Given the description of an element on the screen output the (x, y) to click on. 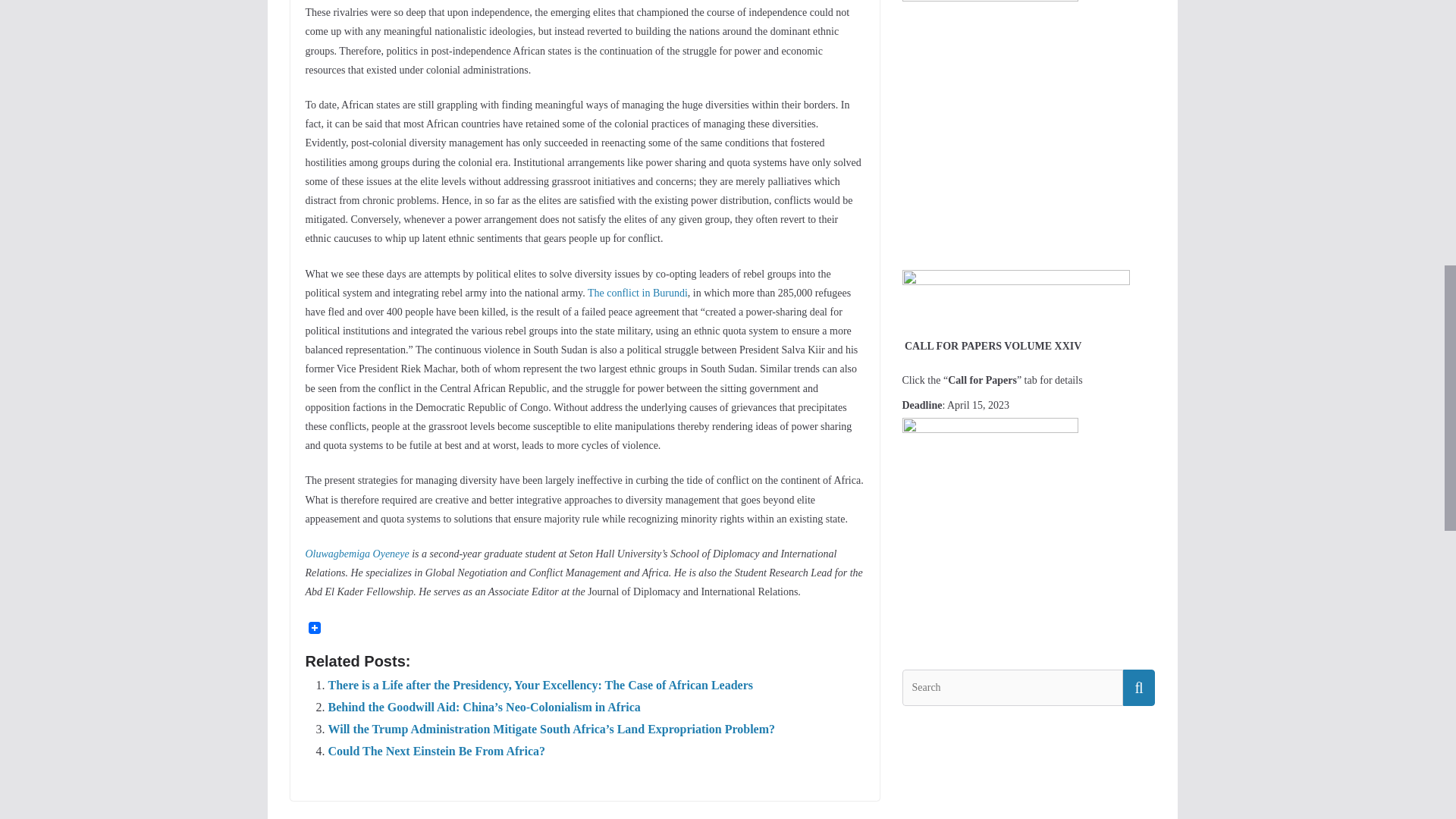
The conflict in Burundi (637, 292)
Oluwagbemiga Oyeneye (356, 553)
